Given the description of an element on the screen output the (x, y) to click on. 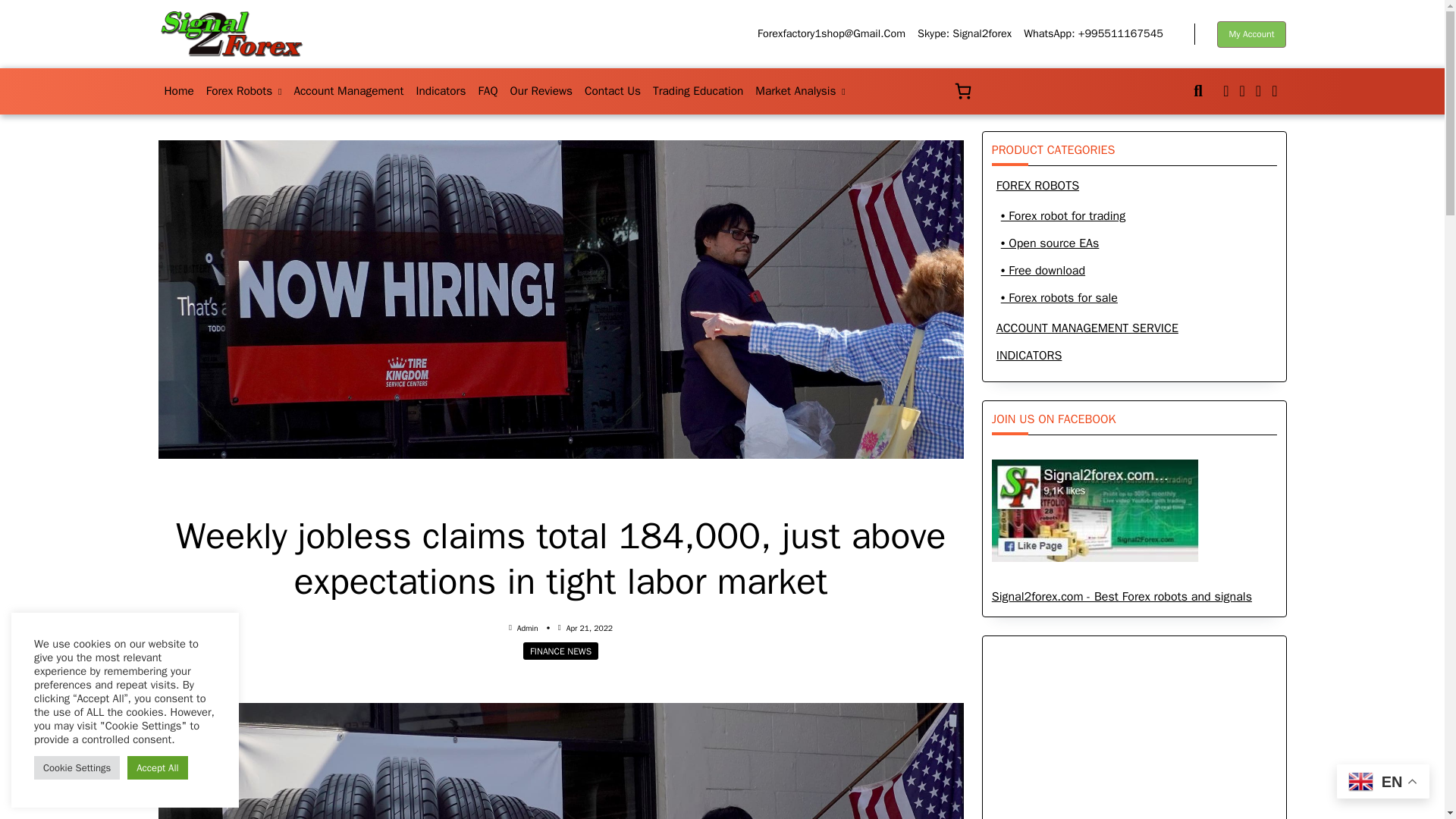
Skype: Signal2forex (964, 33)
My Account (1252, 34)
